Given the description of an element on the screen output the (x, y) to click on. 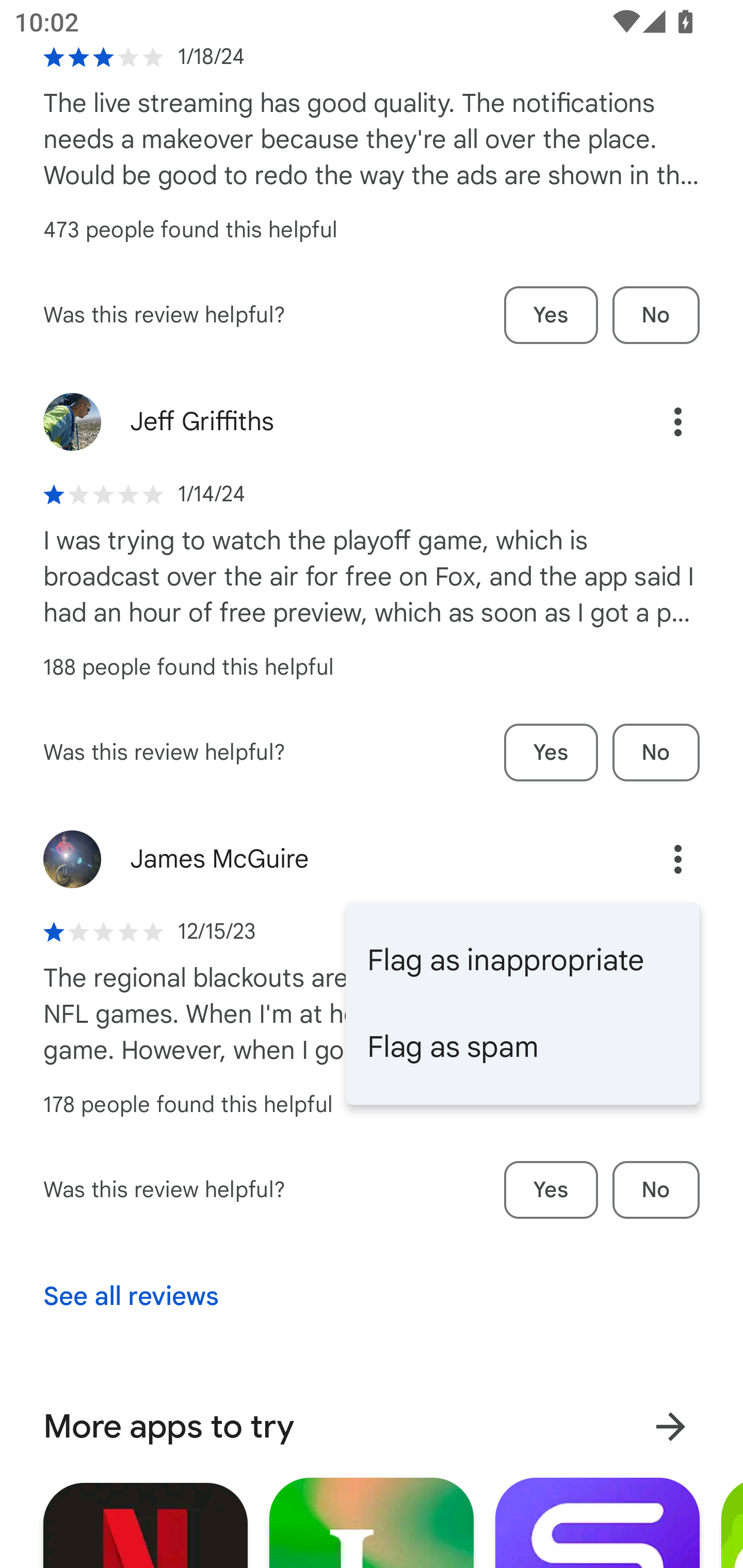
Flag as inappropriate (522, 960)
Flag as spam (522, 1046)
